Given the description of an element on the screen output the (x, y) to click on. 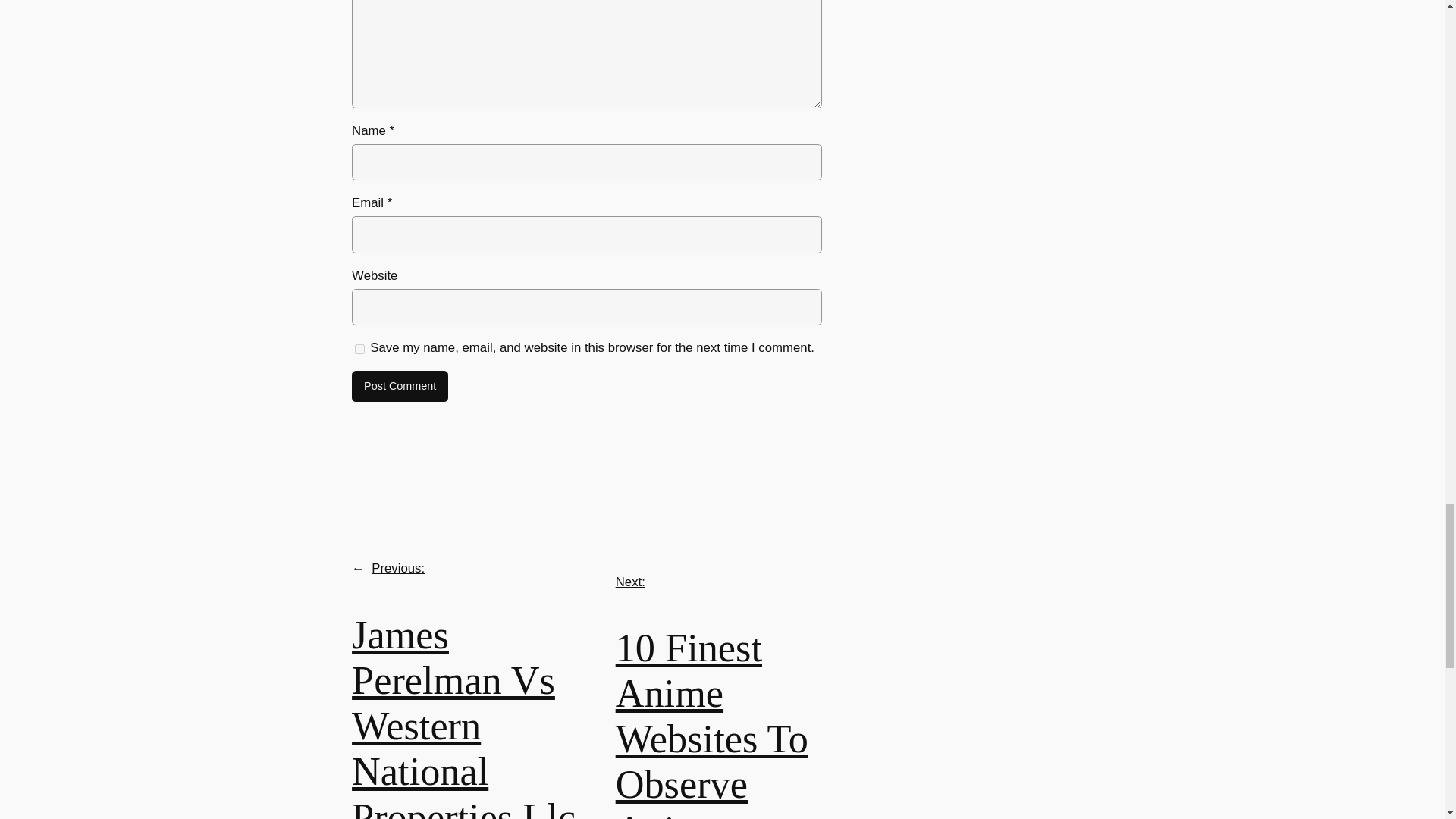
Post Comment (400, 386)
Post Comment (400, 386)
